Given the description of an element on the screen output the (x, y) to click on. 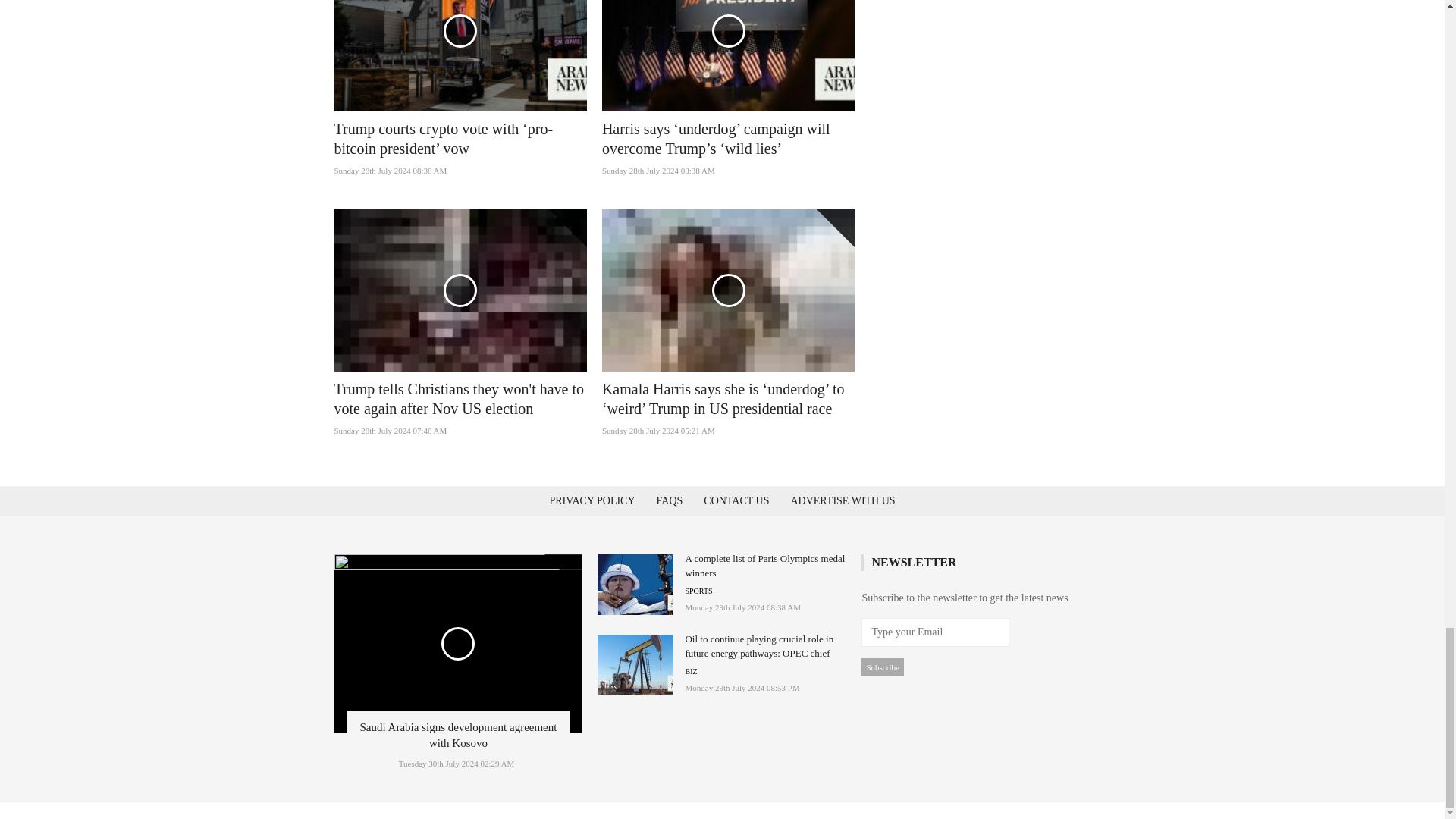
Subscribe (881, 667)
